Given the description of an element on the screen output the (x, y) to click on. 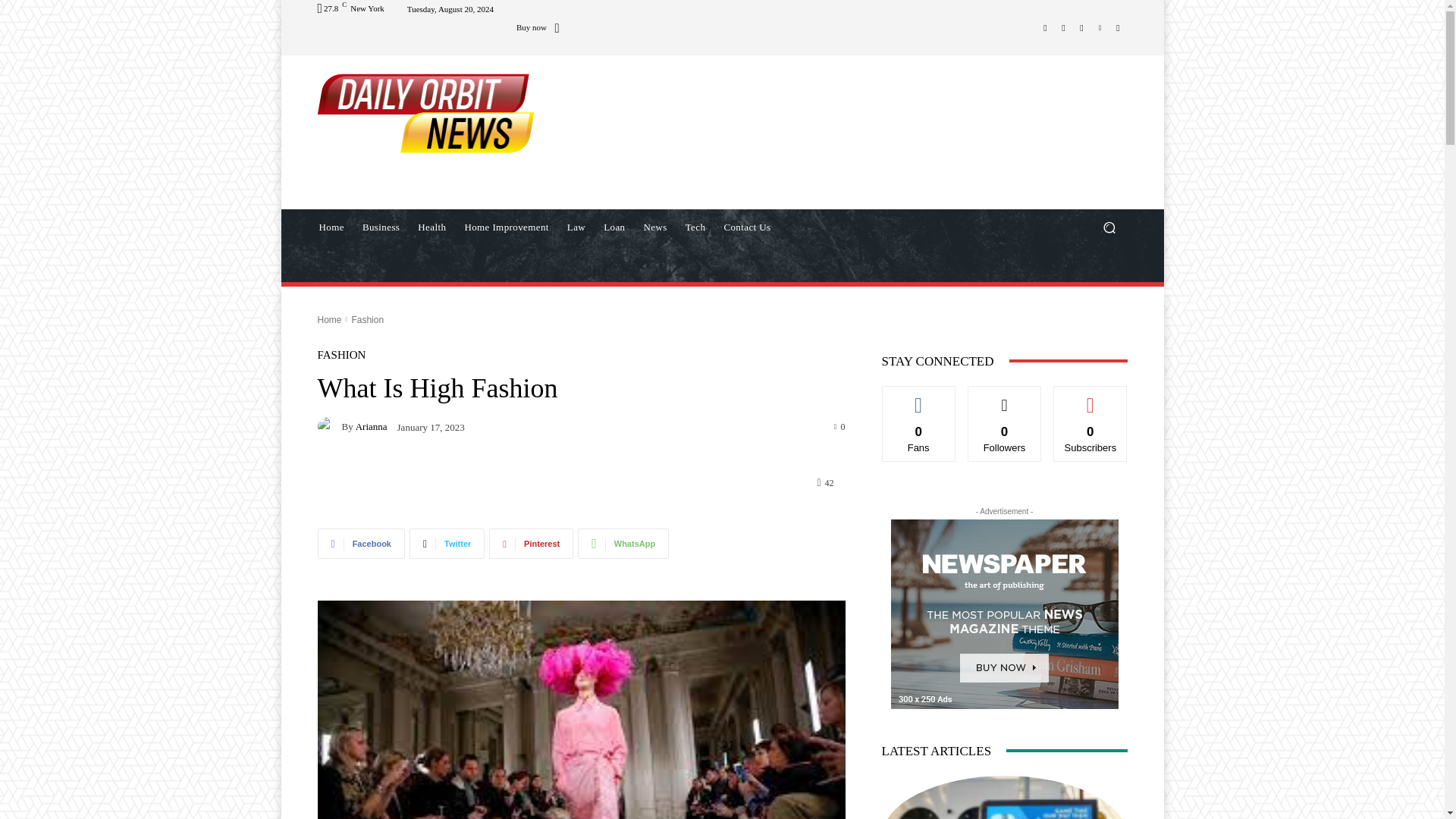
Facebook (1044, 27)
Arianna (328, 426)
Health (431, 227)
Twitter (1080, 27)
Home Improvement (505, 227)
Law (575, 227)
Tech (695, 227)
Loan (613, 227)
Twitter (446, 543)
Facebook (360, 543)
